Given the description of an element on the screen output the (x, y) to click on. 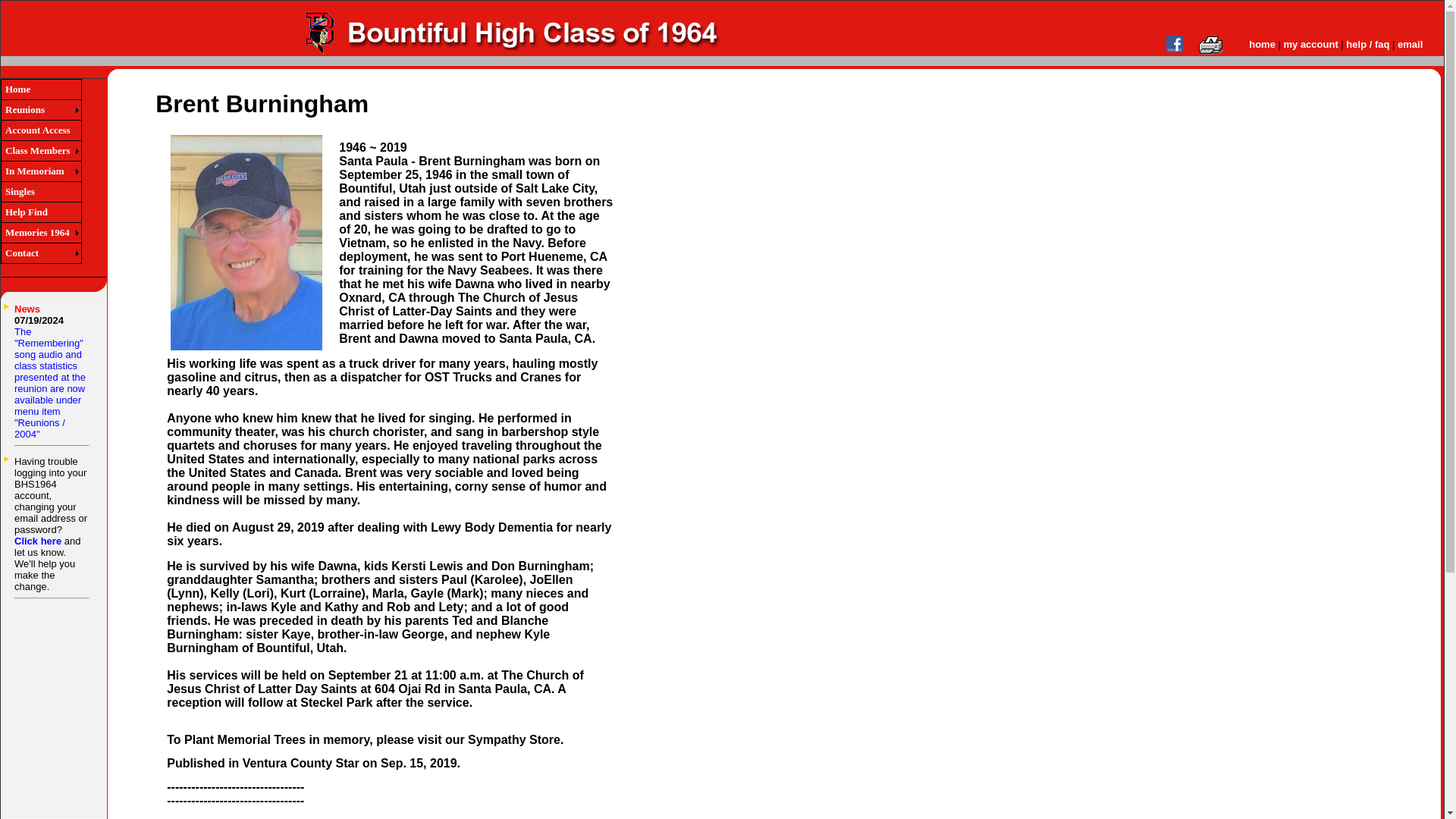
Singles (41, 191)
Home (41, 89)
email (1409, 43)
Click here (37, 541)
Join us on Facebook (1174, 48)
In Memoriam (37, 171)
Print the page (1211, 52)
home (1262, 43)
Account Access (41, 130)
Help Find (41, 212)
Reunions (37, 110)
Class Members (37, 150)
Memories 1964 (37, 232)
Contact (37, 253)
my account (1310, 43)
